Given the description of an element on the screen output the (x, y) to click on. 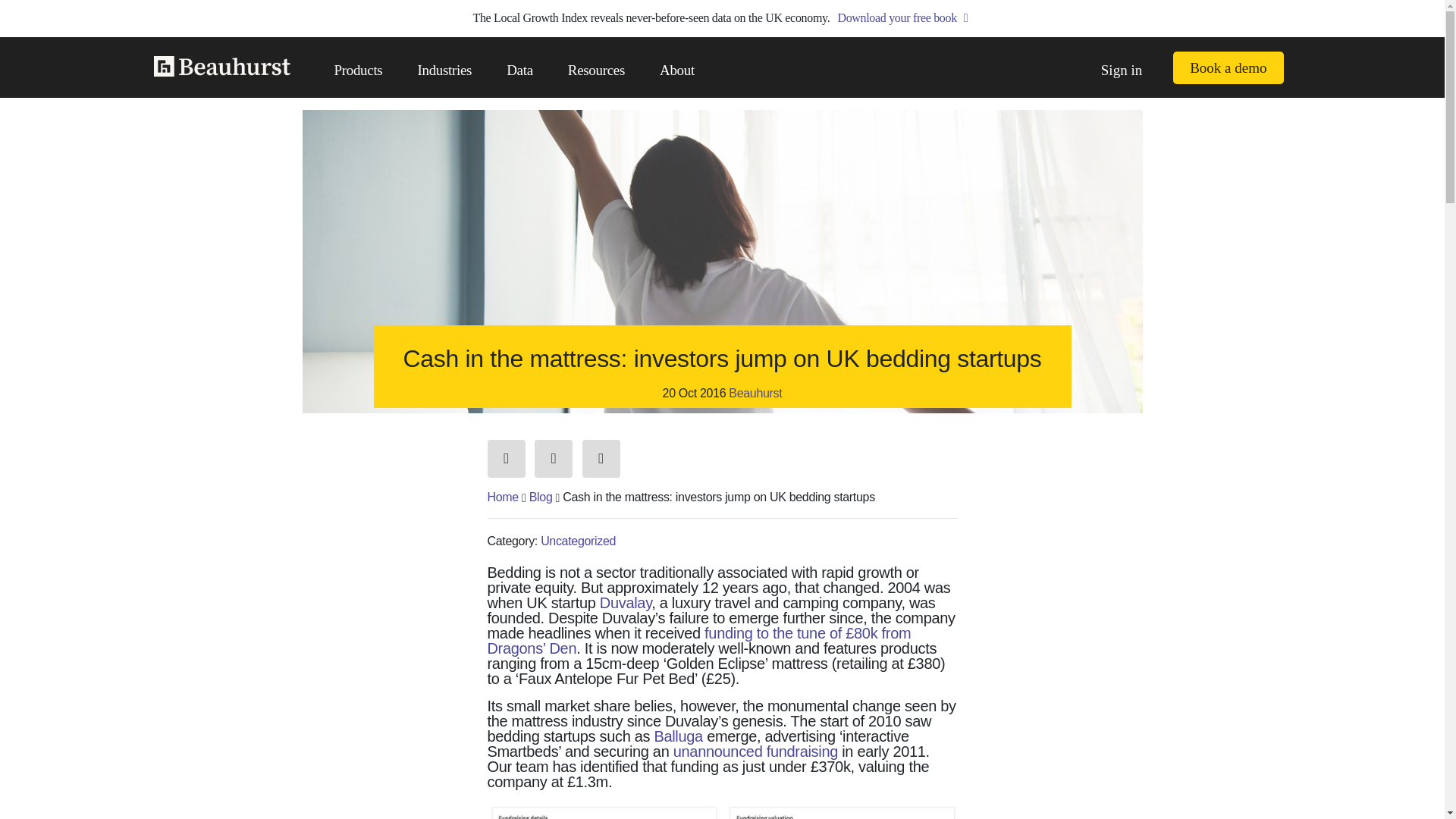
Products (357, 69)
About (676, 69)
Download your free book (904, 18)
Data (519, 69)
Industries (443, 69)
Click to share this post on Twitter (553, 458)
Resources (596, 69)
